Given the description of an element on the screen output the (x, y) to click on. 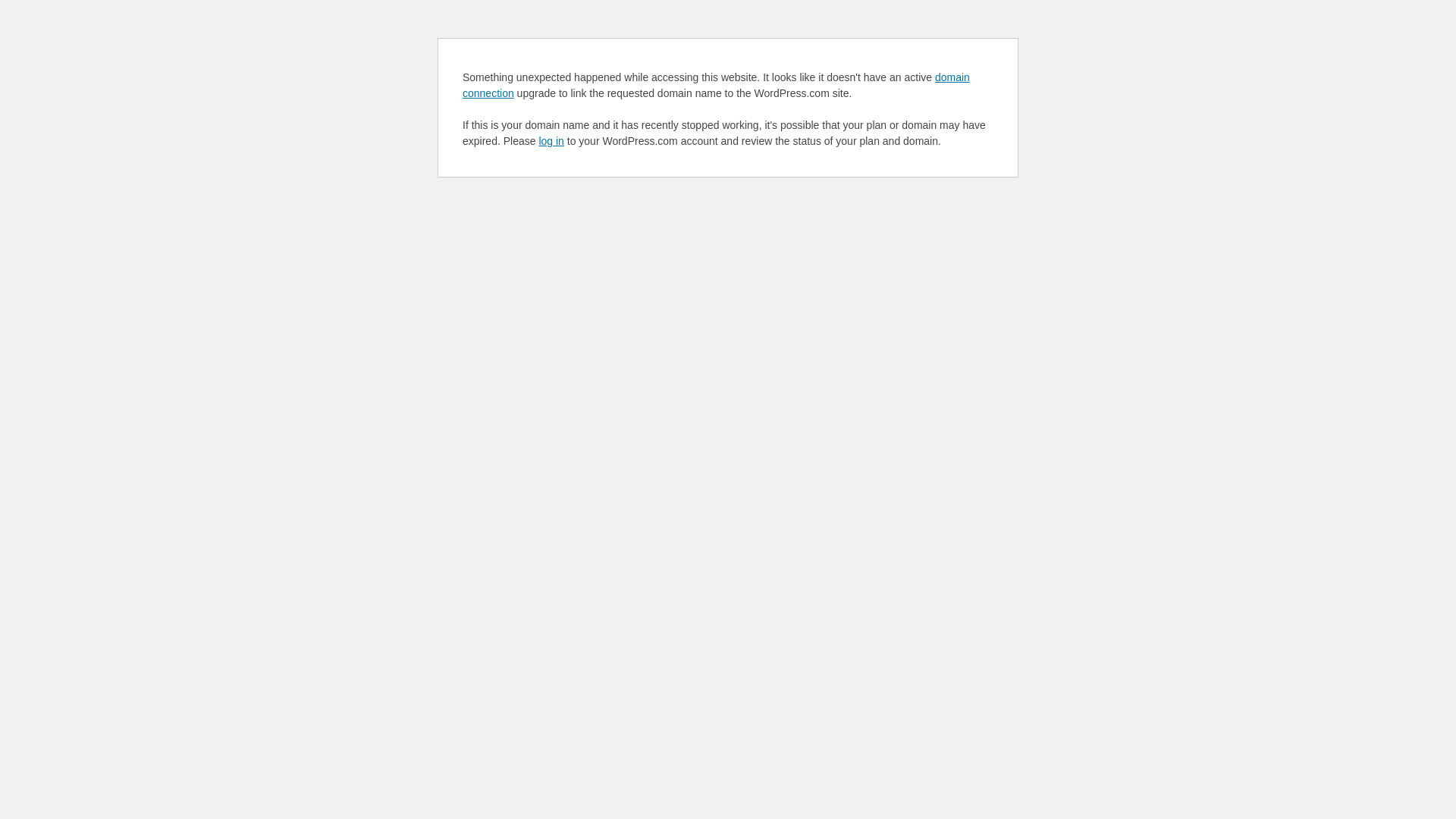
domain connection Element type: text (715, 85)
log in Element type: text (550, 140)
